Given the description of an element on the screen output the (x, y) to click on. 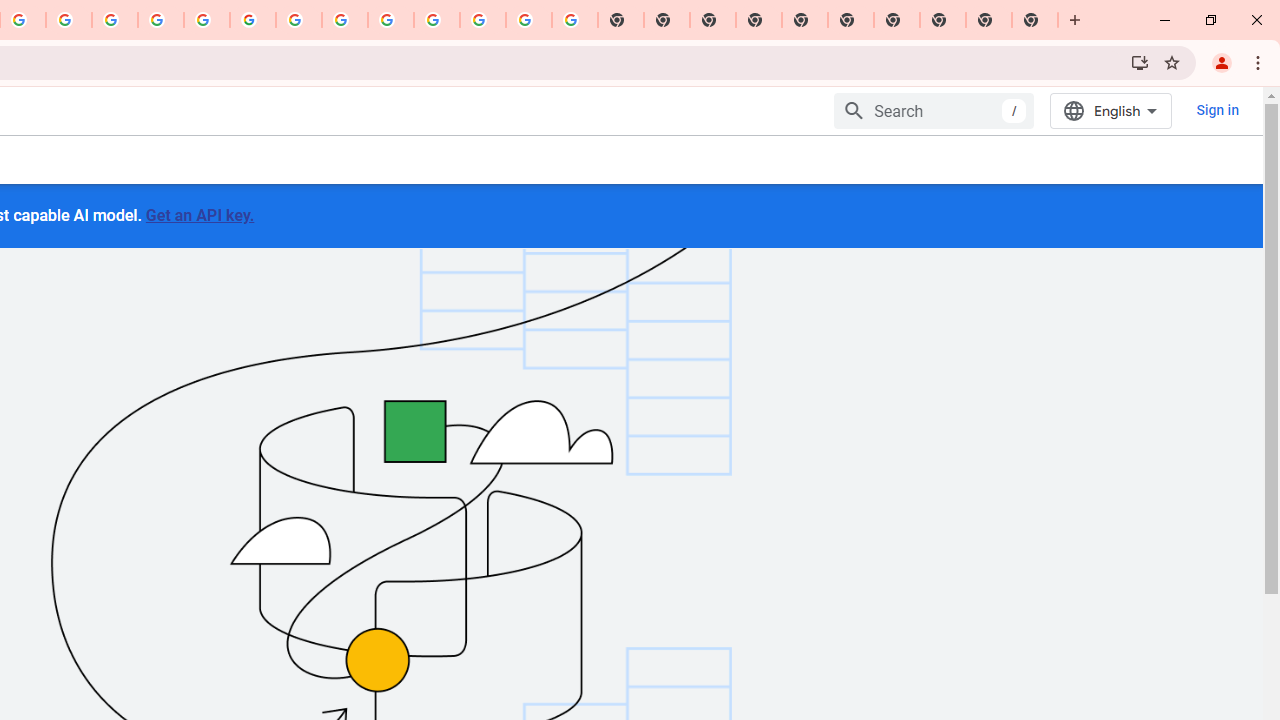
Privacy Help Center - Policies Help (115, 20)
Get an API key. (199, 214)
Google Images (574, 20)
English (1110, 110)
YouTube (299, 20)
Privacy Help Center - Policies Help (161, 20)
